Given the description of an element on the screen output the (x, y) to click on. 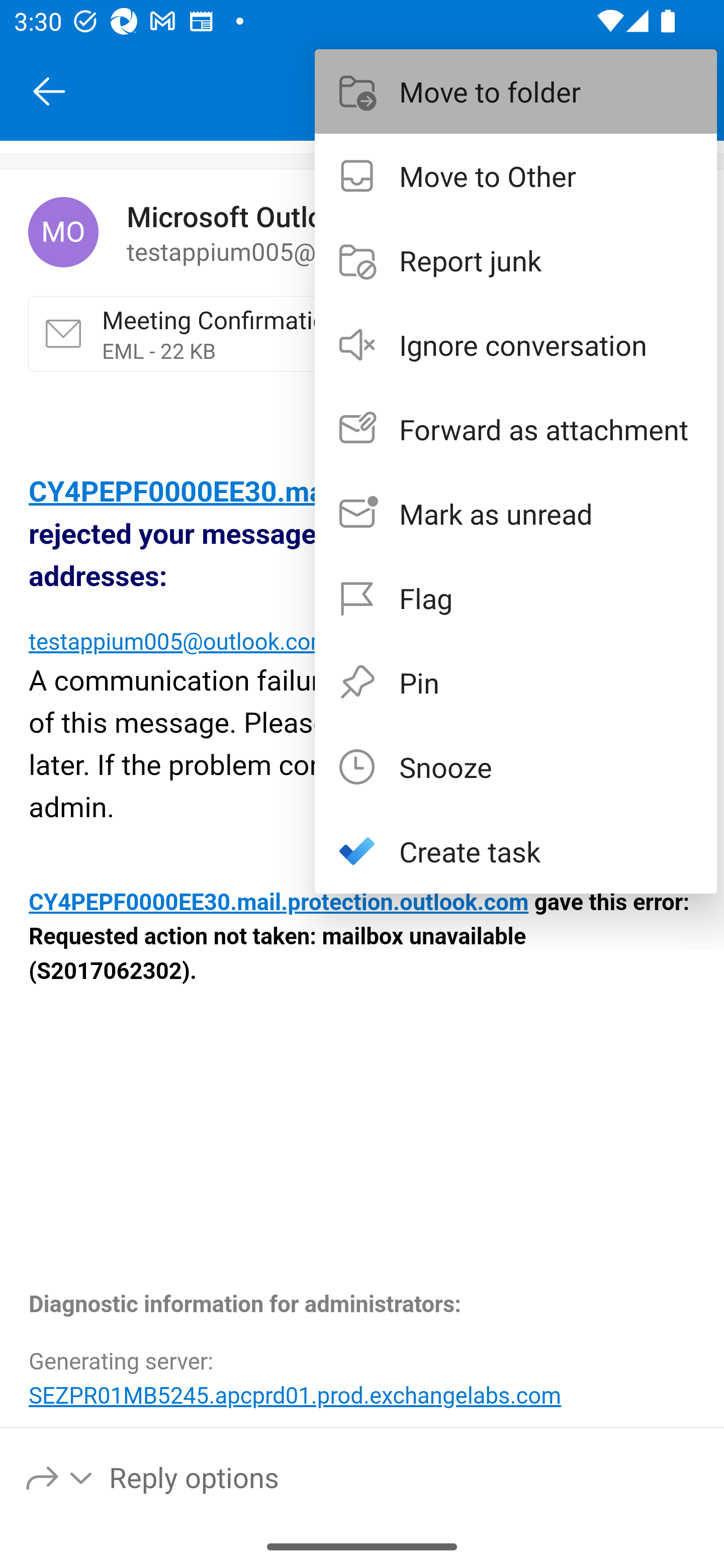
Move to folder (515, 90)
Move to Other (515, 175)
Report junk (515, 259)
Ignore conversation (515, 344)
Forward as attachment (515, 429)
Mark as unread (515, 513)
Flag (515, 597)
Pin (515, 681)
Snooze (515, 766)
Create task (515, 851)
